Given the description of an element on the screen output the (x, y) to click on. 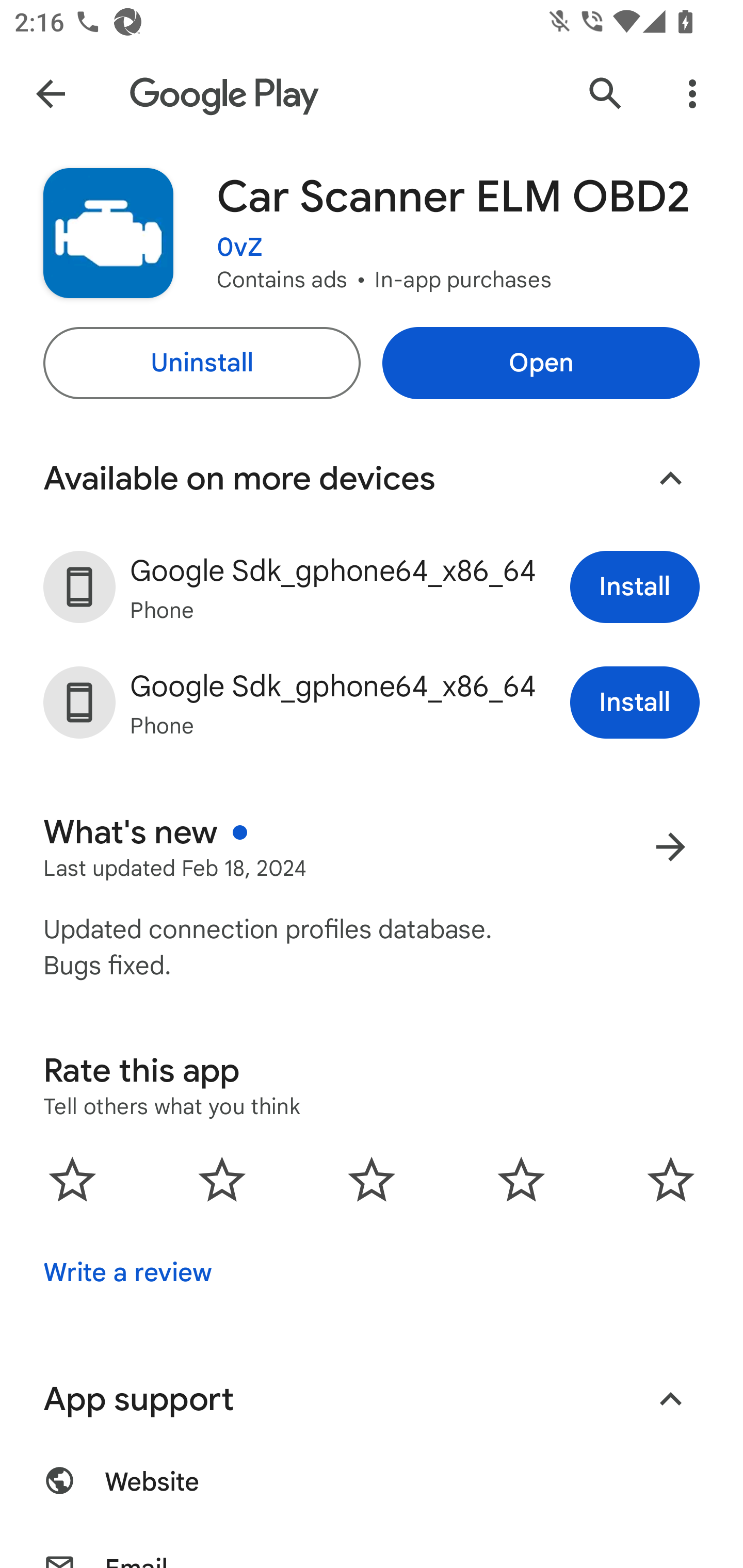
Navigate up (50, 93)
Search Google Play (605, 93)
More Options (692, 93)
0vZ (239, 247)
Uninstall (201, 362)
Open (540, 362)
Available on more devices Collapse (371, 478)
Collapse (670, 478)
Install (634, 587)
Install (634, 702)
More results for What's new (670, 846)
0.0 (371, 1179)
Write a review (127, 1272)
App support Collapse (371, 1399)
Collapse (670, 1399)
Website (371, 1493)
